Given the description of an element on the screen output the (x, y) to click on. 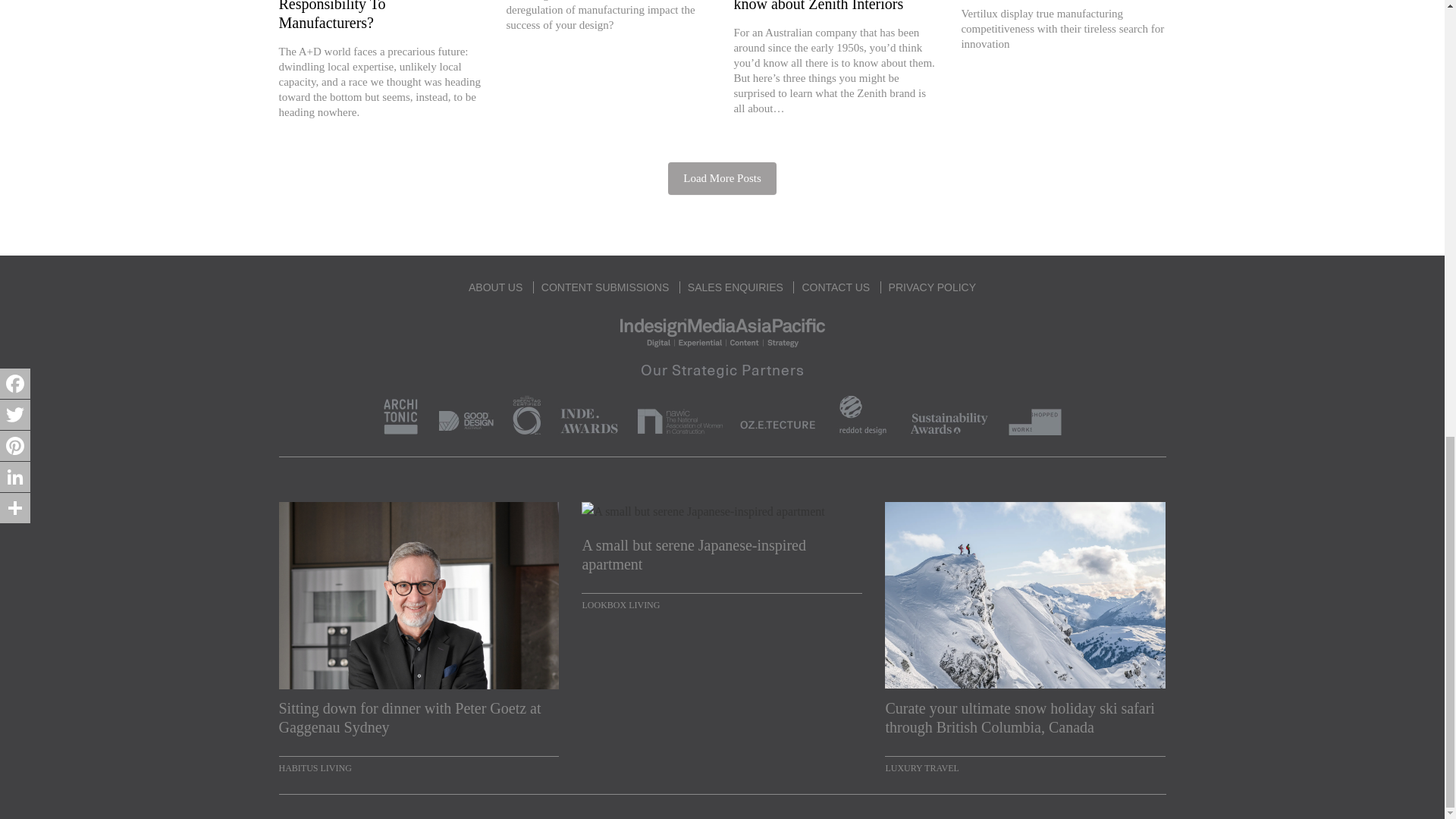
Brought to you by Indesign Media Asia Pacific (721, 331)
Our Strategic Partners (722, 395)
Sitting down for dinner with Peter Goetz at Gaggenau Sydney (419, 718)
A small but serene Japanese-inspired apartment (720, 555)
